Given the description of an element on the screen output the (x, y) to click on. 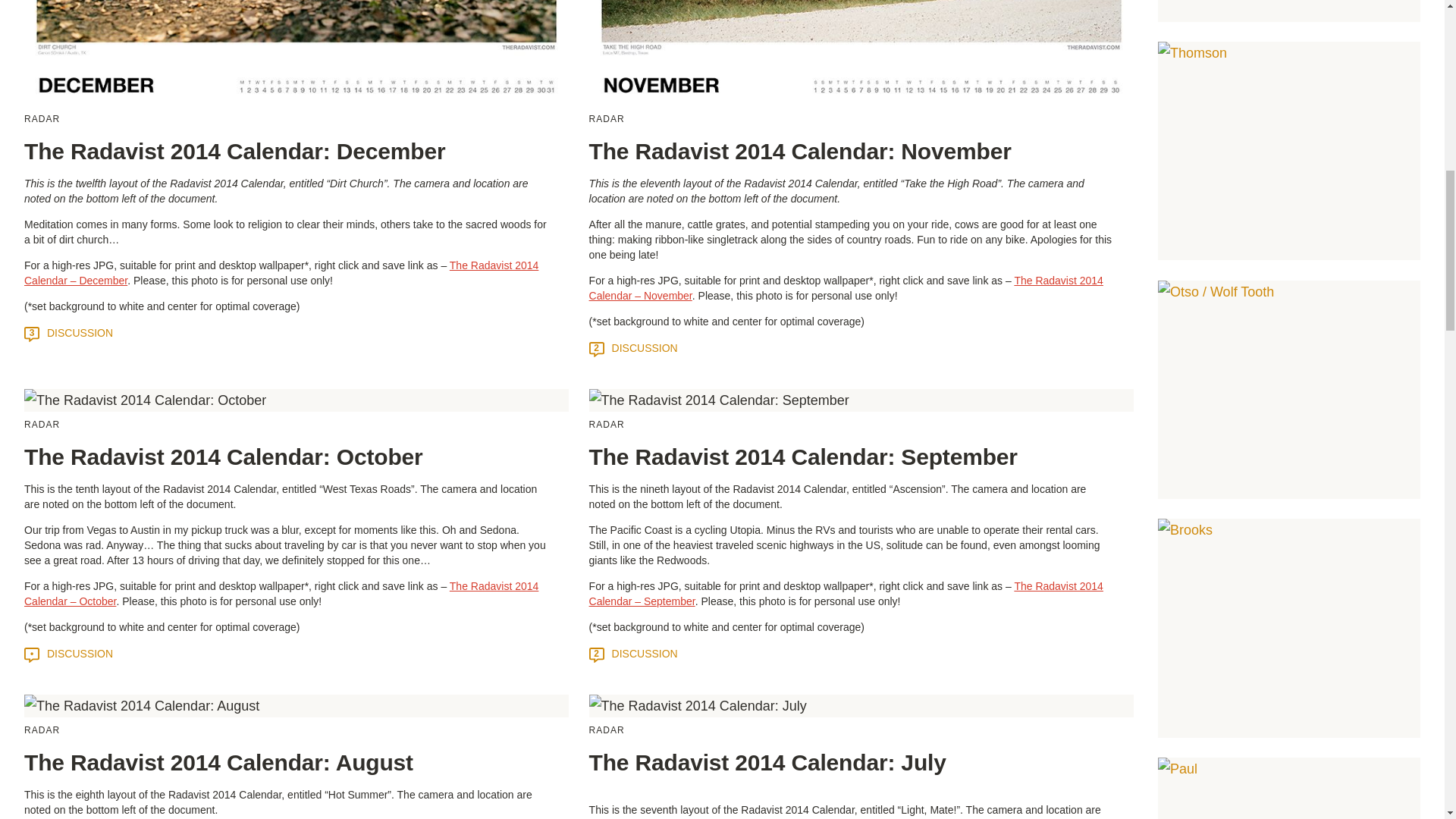
Brooks (1289, 627)
Paul (1289, 788)
Thomson (1289, 150)
Ripton (1289, 10)
